Given the description of an element on the screen output the (x, y) to click on. 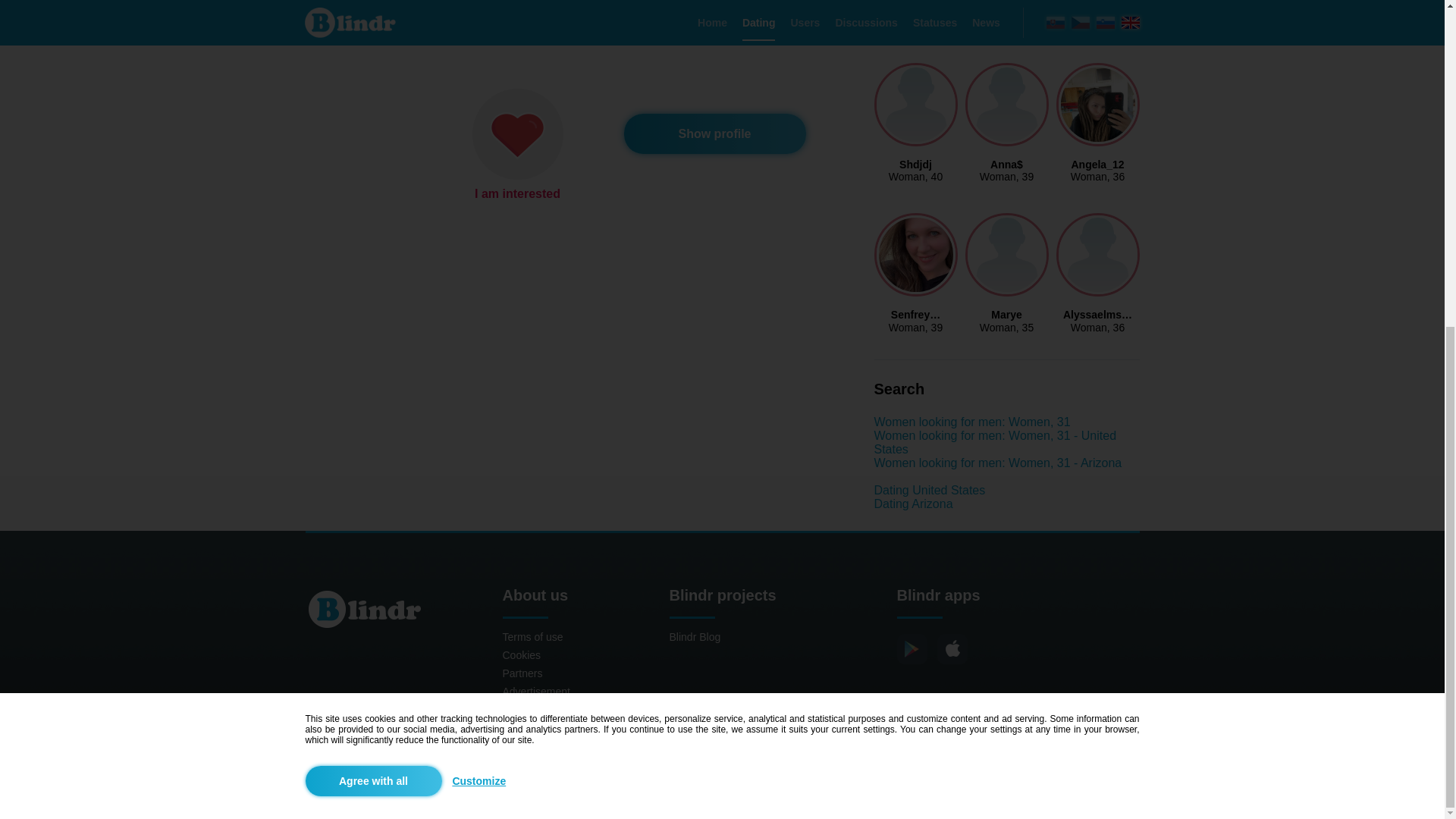
Women looking for men: Women, 31 - Arizona (914, 176)
Contact (997, 462)
Shdjdj (520, 709)
Women looking for men: Women, 31 (914, 176)
Dating United States (971, 421)
Cookies (997, 504)
Alyssaelmslie (521, 654)
Dating Arizona (1096, 327)
Women looking for men: Women, 31 - United States (912, 503)
Advertisement (994, 442)
Senfrey zuzan (535, 691)
Dating women looking for men: Women, 31 (914, 327)
Blindr Blog (971, 421)
